Given the description of an element on the screen output the (x, y) to click on. 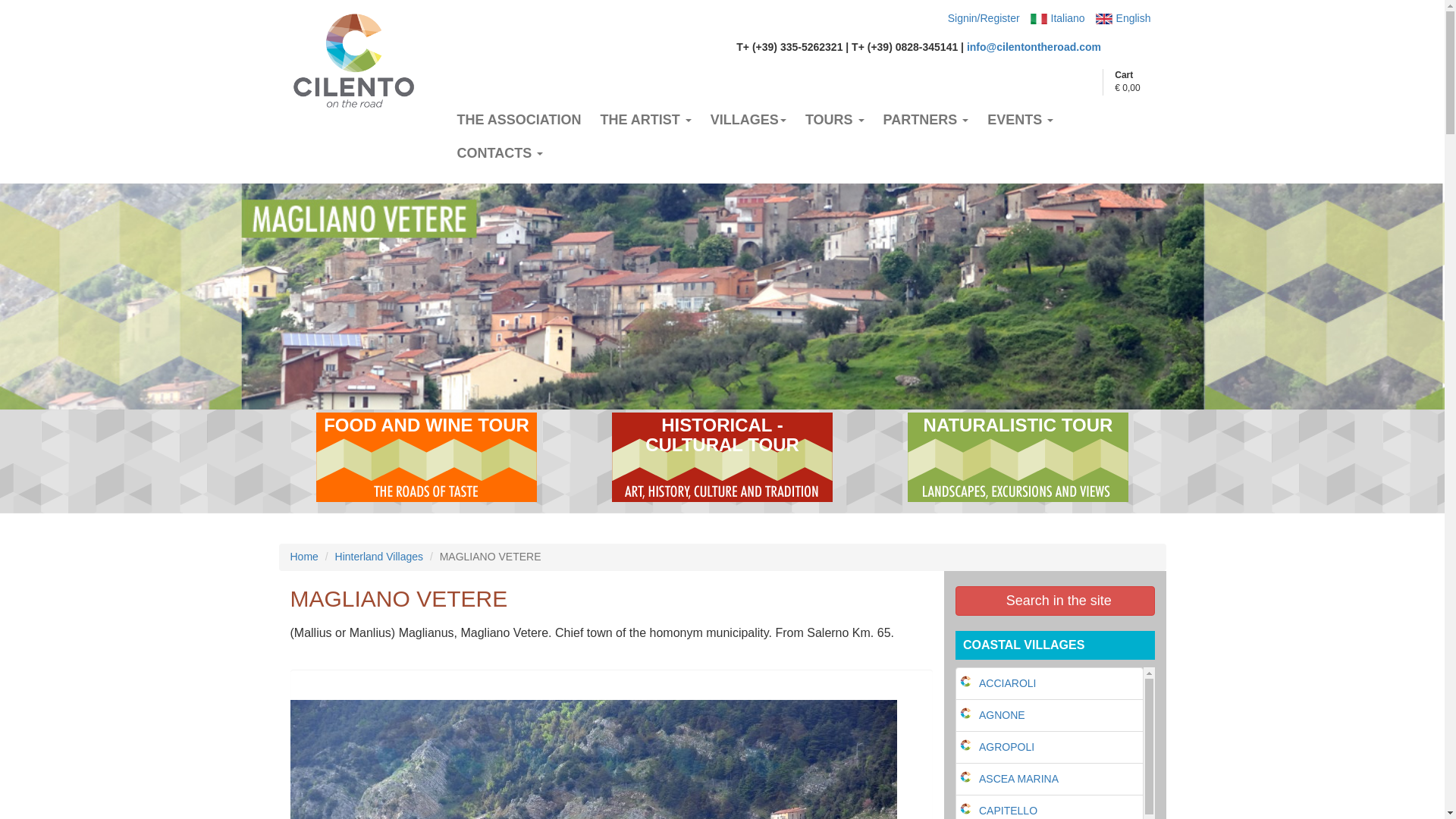
FOOD AND WINE TOUR (425, 457)
CONTACTS (499, 152)
THE ASSOCIATION (518, 119)
VILLAGES (748, 119)
English (1133, 18)
Italiano (1067, 18)
THE ARTIST (645, 119)
TOURS (834, 119)
HISTORICAL - CULTURAL TOUR (722, 457)
EVENTS (1020, 119)
PARTNERS (926, 119)
